Given the description of an element on the screen output the (x, y) to click on. 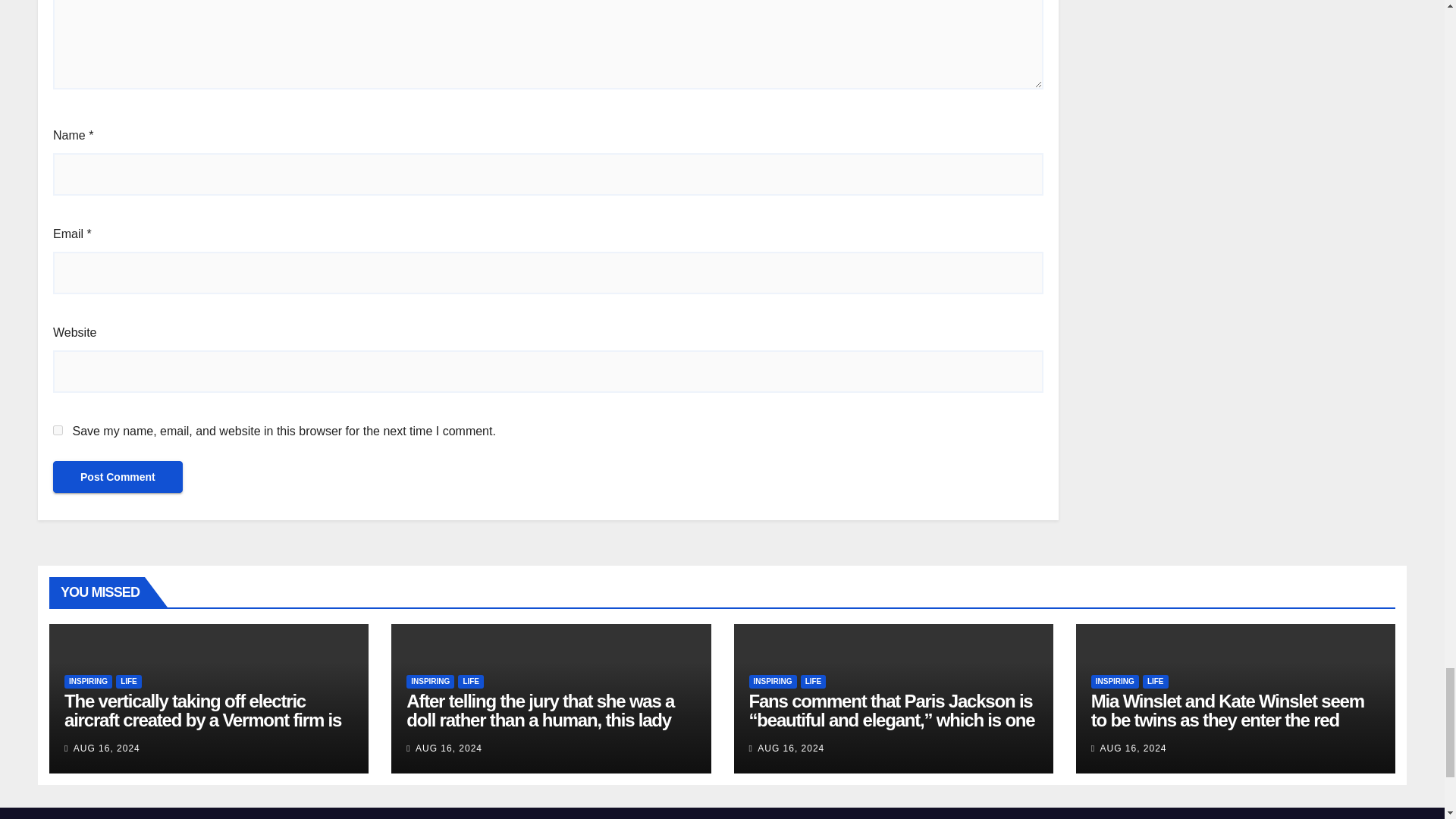
yes (57, 429)
Post Comment (117, 477)
Post Comment (117, 477)
